Given the description of an element on the screen output the (x, y) to click on. 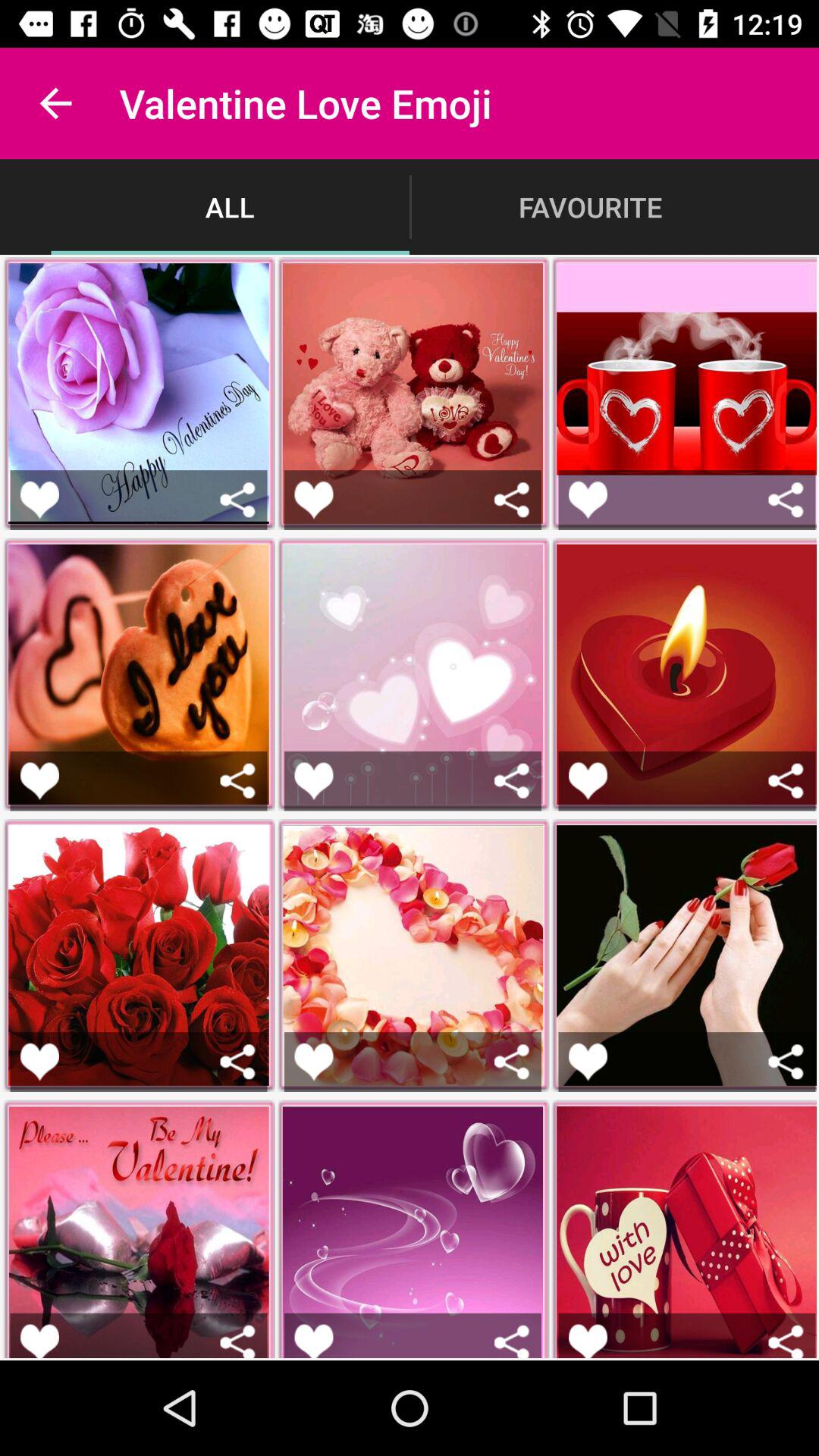
share picture (237, 1061)
